Given the description of an element on the screen output the (x, y) to click on. 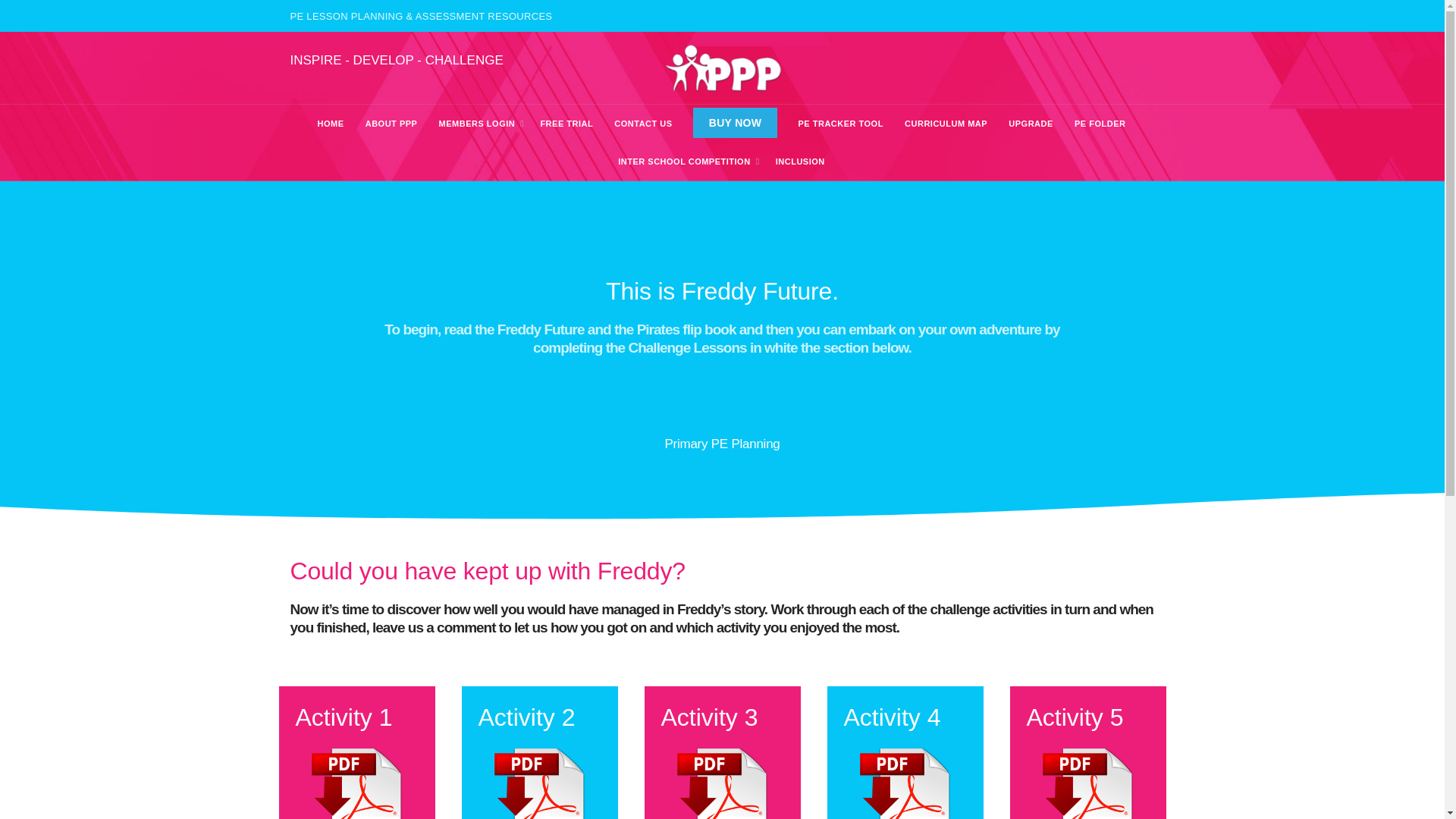
INTER SCHOOL COMPETITION (684, 161)
Click here to download PDF (904, 782)
Click here to download PDF (538, 782)
Click here to download PDF (1088, 782)
Click here to download PDF (722, 782)
FREE TRIAL (565, 123)
UPGRADE (1030, 123)
ABOUT PPP (391, 123)
INCLUSION (799, 161)
PE TRACKER TOOL (839, 123)
HOME (330, 123)
Click here to download PDF (357, 782)
MEMBERS LOGIN (477, 123)
BUY NOW (735, 122)
PE FOLDER (1099, 123)
